Given the description of an element on the screen output the (x, y) to click on. 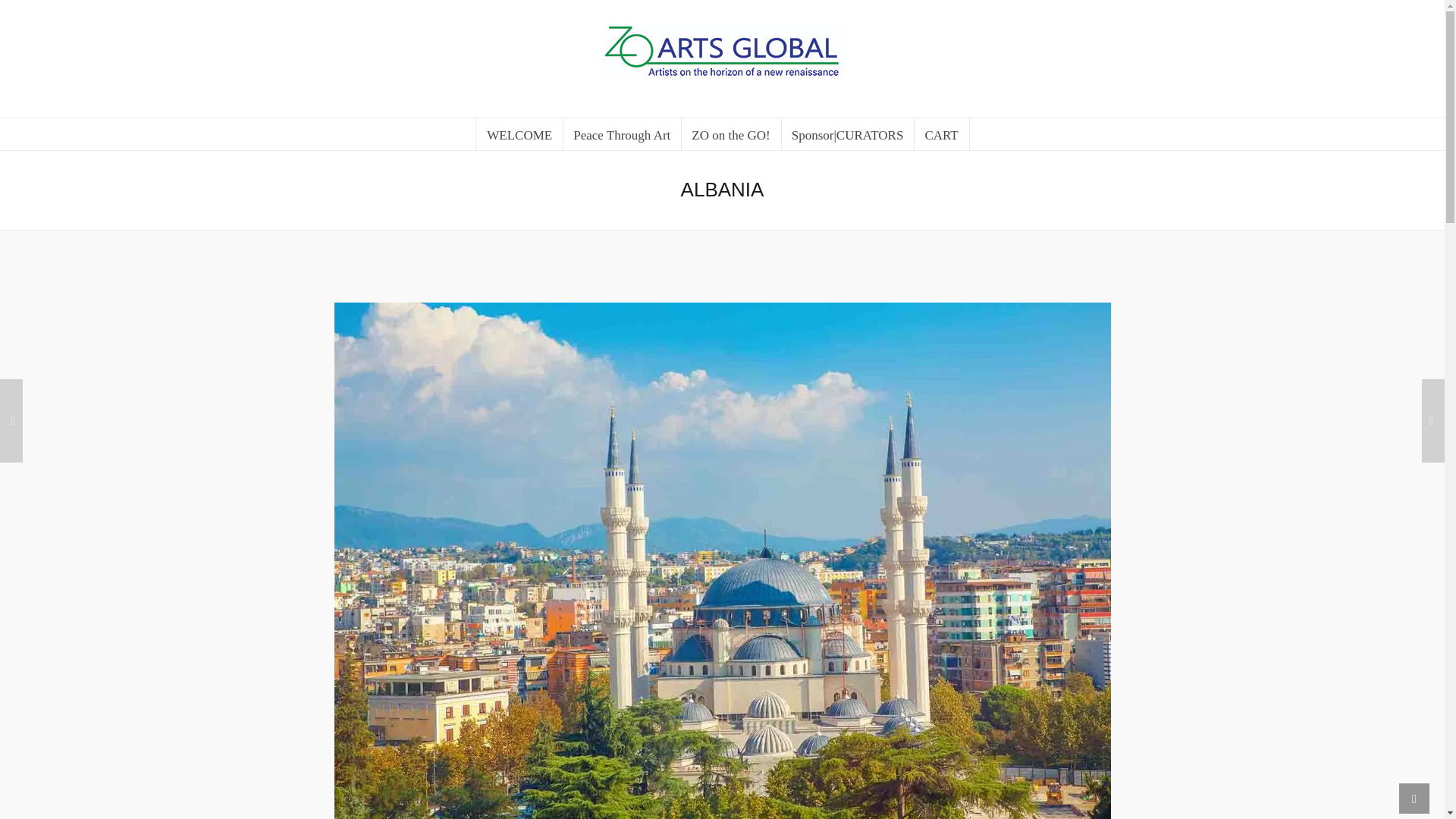
CART (941, 133)
WELCOME (519, 133)
Peace Through Art (621, 133)
ZO on the GO! (730, 133)
